Given the description of an element on the screen output the (x, y) to click on. 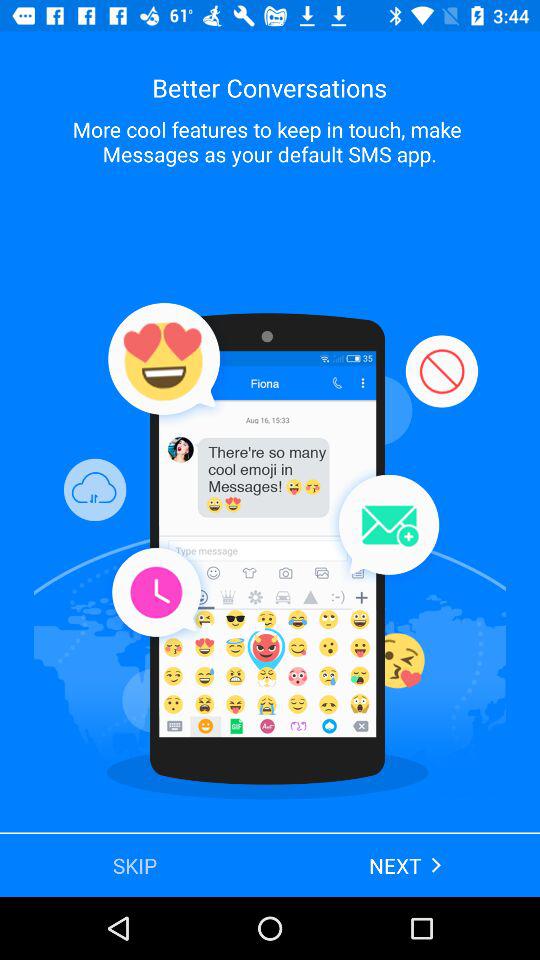
flip until the skip item (135, 864)
